Given the description of an element on the screen output the (x, y) to click on. 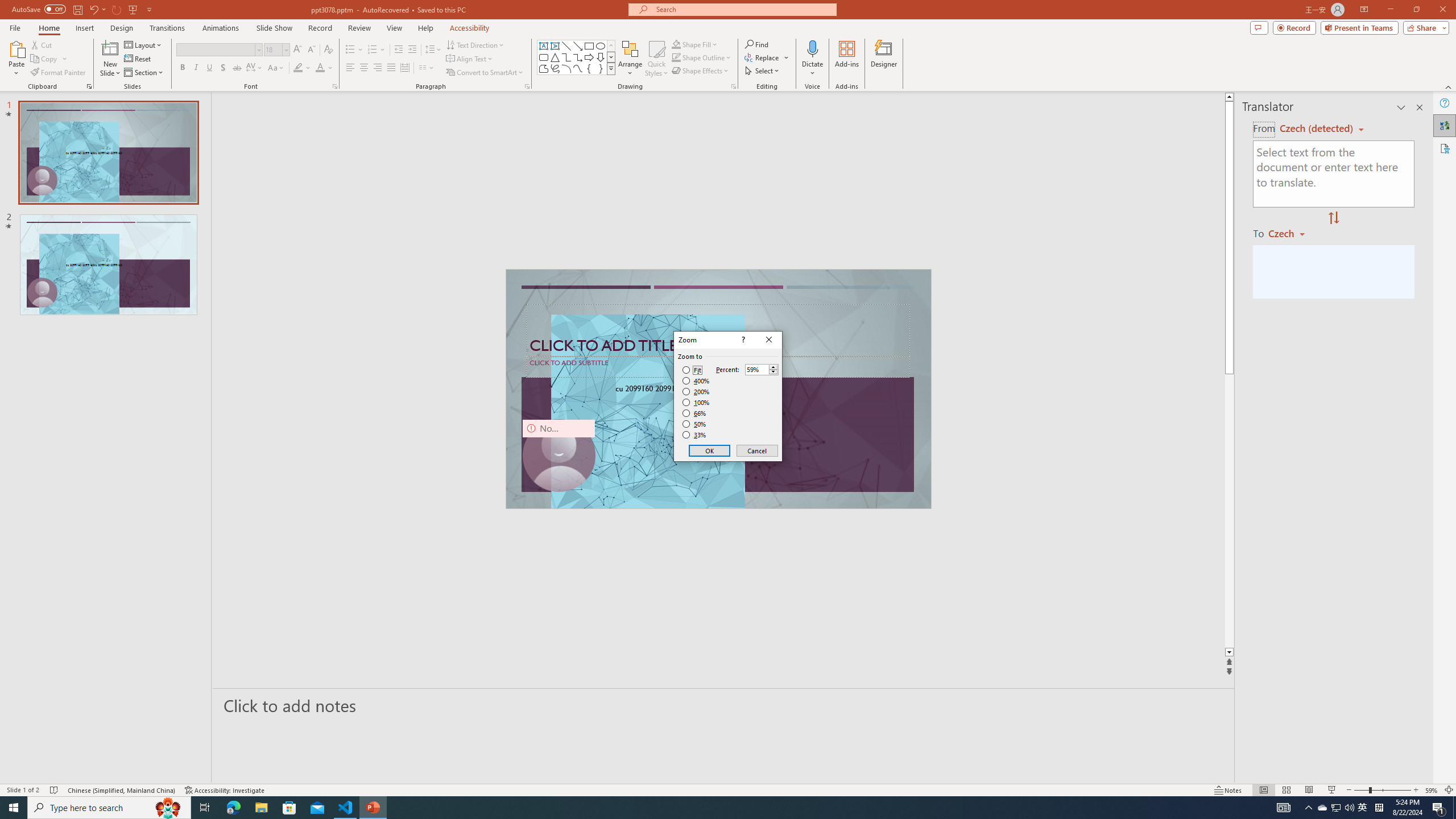
33% (694, 434)
Czech (detected) (1317, 128)
System Promoted Notification Area (1322, 807)
Czech (1291, 232)
